Given the description of an element on the screen output the (x, y) to click on. 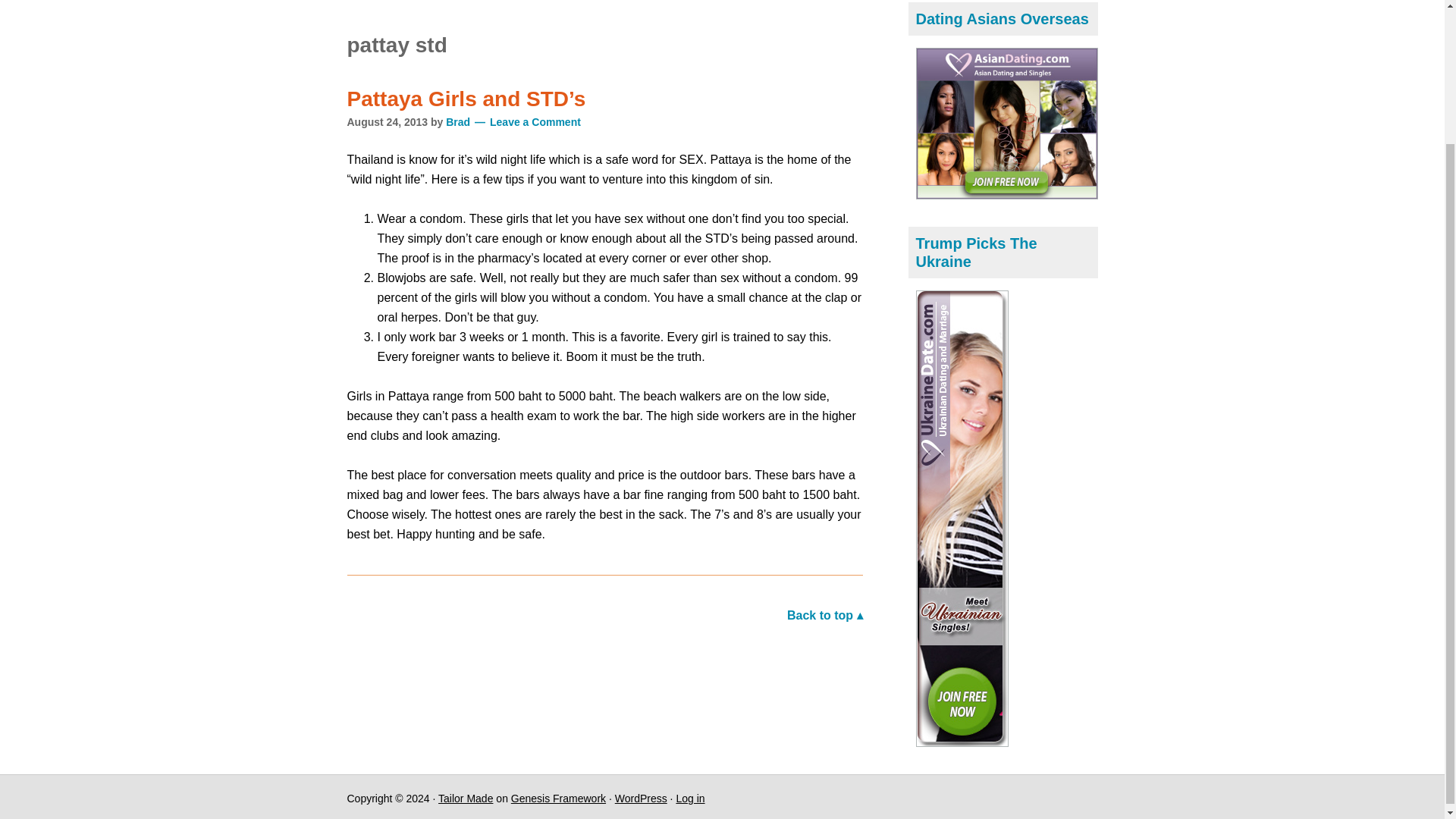
WordPress (640, 798)
Tailor Made (465, 798)
Log in (689, 798)
Genesis Framework (558, 798)
Leave a Comment (526, 121)
Brad (457, 121)
